Given the description of an element on the screen output the (x, y) to click on. 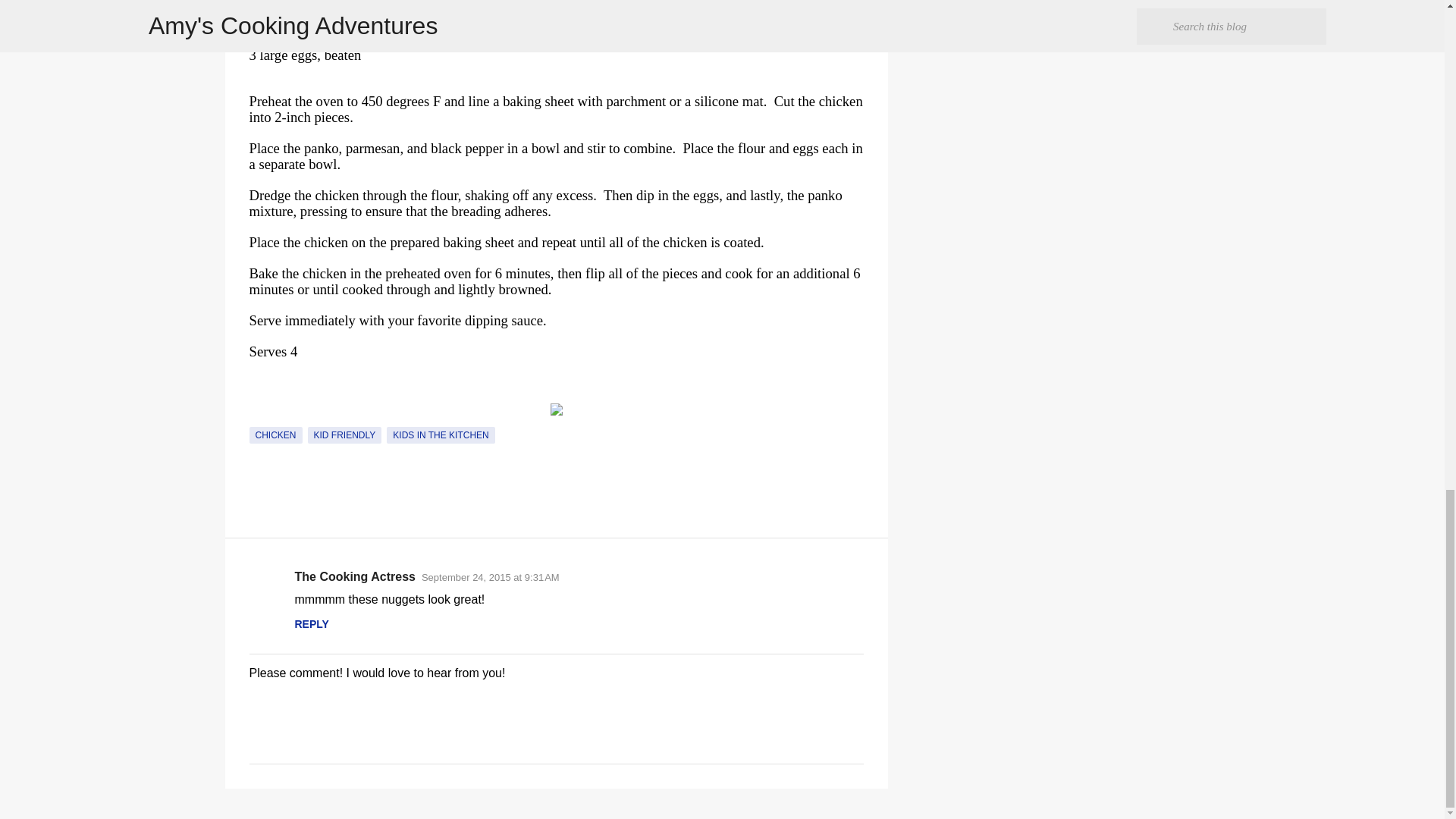
KID FRIENDLY (344, 434)
KIDS IN THE KITCHEN (441, 434)
The Cooking Actress (354, 576)
CHICKEN (274, 434)
REPLY (311, 623)
